Given the description of an element on the screen output the (x, y) to click on. 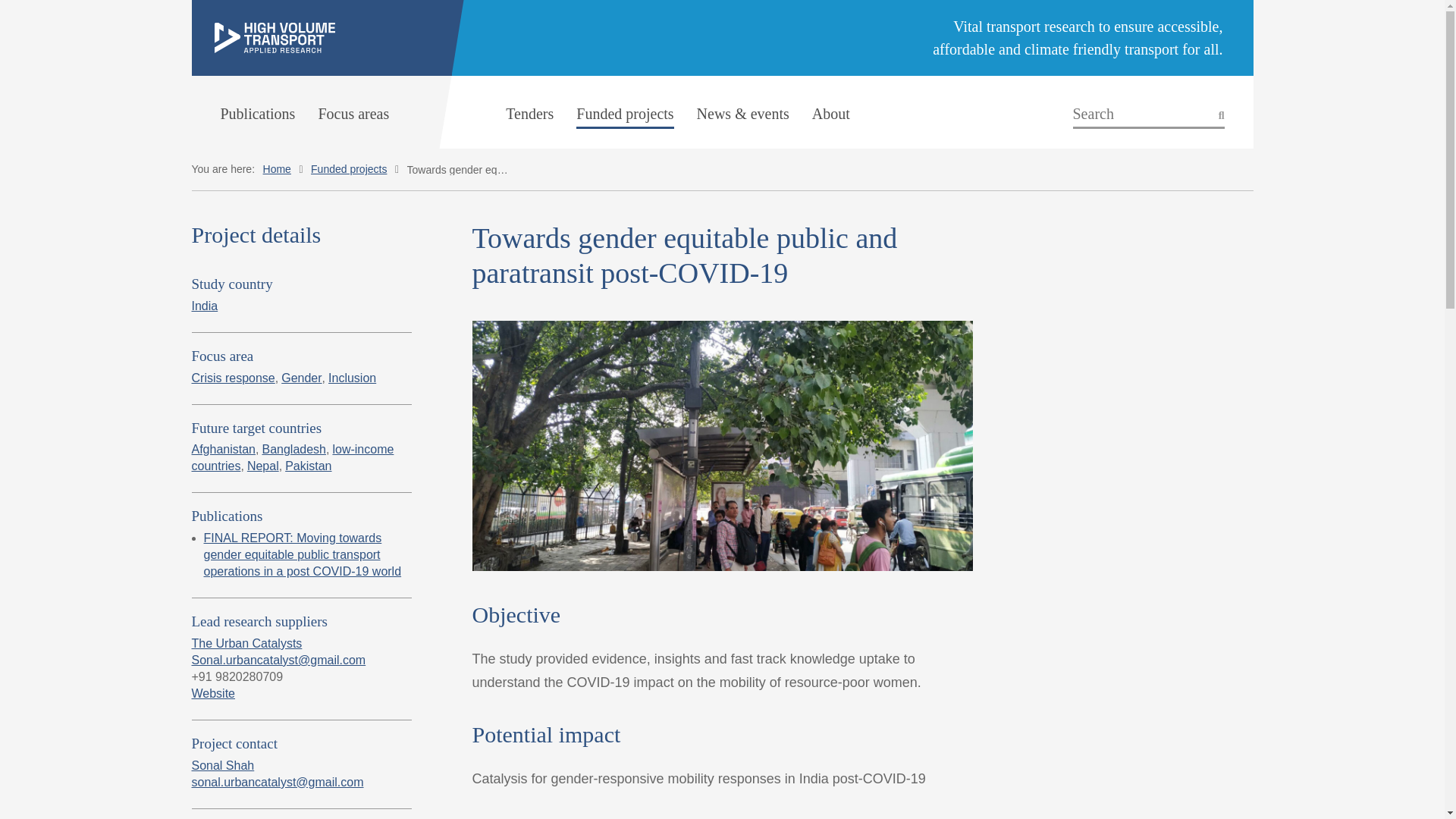
Publications (257, 114)
Funded projects (624, 114)
India (203, 305)
Tenders (529, 114)
Focus areas (352, 114)
About (831, 114)
Funded projects (349, 168)
Home (277, 168)
